Given the description of an element on the screen output the (x, y) to click on. 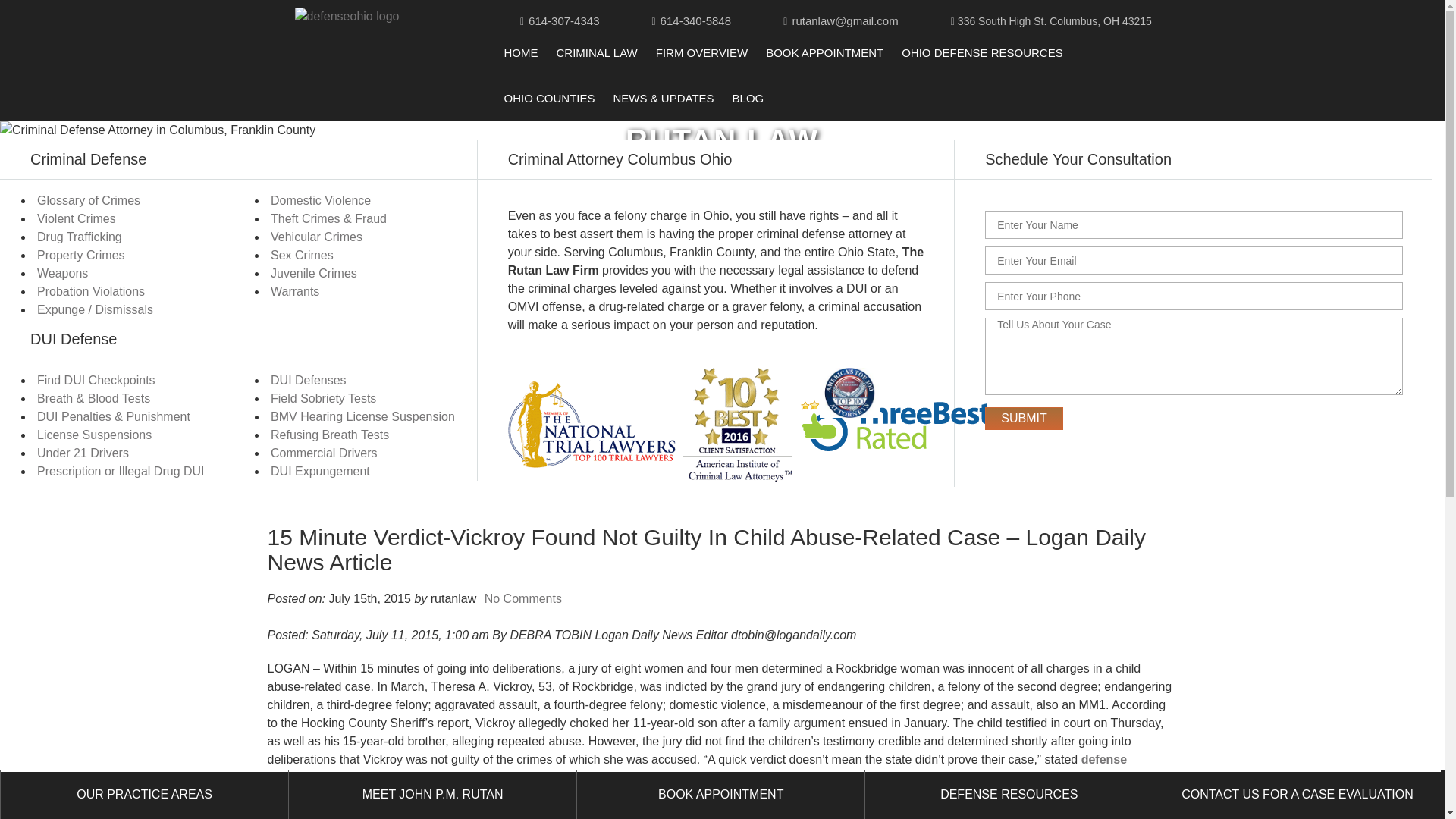
614-340-5848 (695, 20)
Criminal Defense (596, 53)
FIRM OVERVIEW (701, 53)
OHIO COUNTIES (549, 98)
Submit (1023, 418)
6143074343 (563, 20)
6143405848 (695, 20)
614-307-4343 (563, 20)
CRIMINAL LAW (596, 53)
Criminal Defense Attorney (346, 15)
HOME (521, 53)
BOOK APPOINTMENT (824, 53)
OHIO DEFENSE RESOURCES (981, 53)
Criminal Defense Attorney (521, 53)
